Given the description of an element on the screen output the (x, y) to click on. 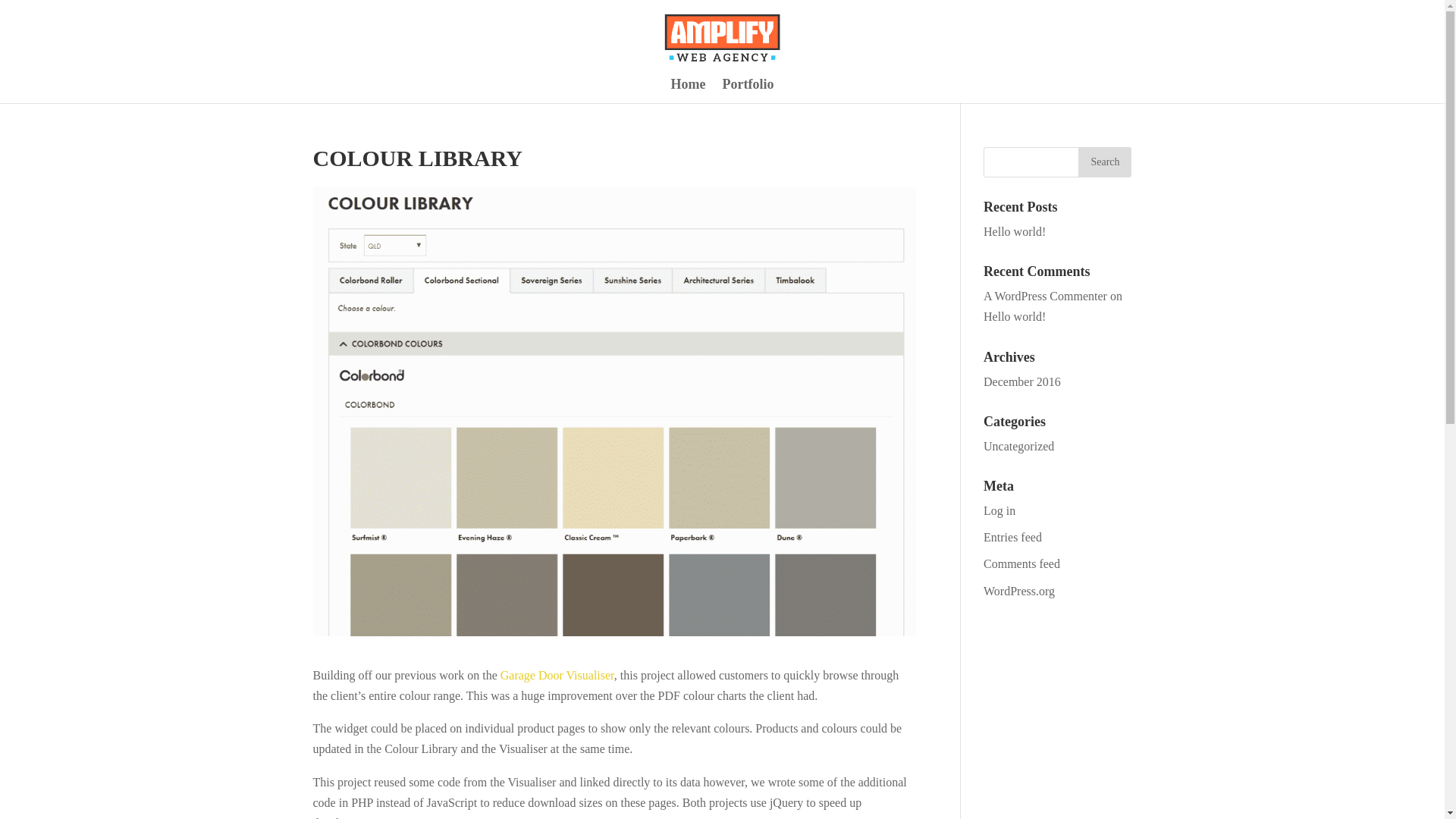
Hello world! (1014, 231)
Uncategorized (1019, 445)
Hello world! (1014, 316)
Entries feed (1013, 536)
December 2016 (1022, 381)
Log in (999, 510)
WordPress.org (1019, 590)
Search (1104, 162)
Garage Door Visualiser (557, 675)
Search (1104, 162)
Home (688, 90)
Comments feed (1021, 563)
A WordPress Commenter (1045, 295)
Portfolio (747, 90)
